Given the description of an element on the screen output the (x, y) to click on. 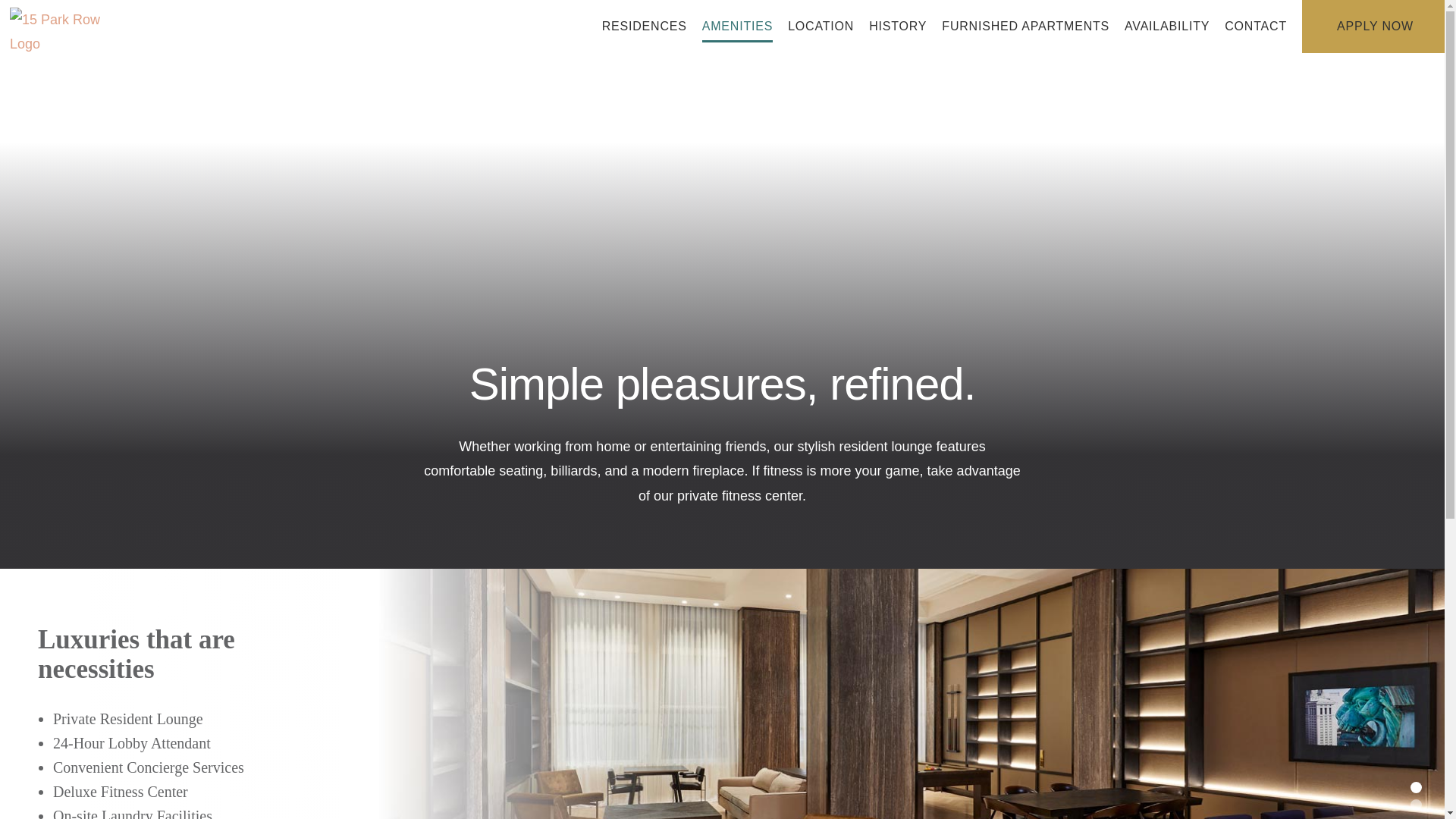
RESIDENCES Element type: text (644, 26)
APPLY NOW Element type: text (1374, 26)
AVAILABILITY Element type: text (1166, 26)
CONTACT Element type: text (1255, 26)
FURNISHED APARTMENTS Element type: text (1025, 26)
HISTORY Element type: text (897, 26)
AMENITIES Element type: text (737, 26)
LOCATION Element type: text (820, 26)
